Given the description of an element on the screen output the (x, y) to click on. 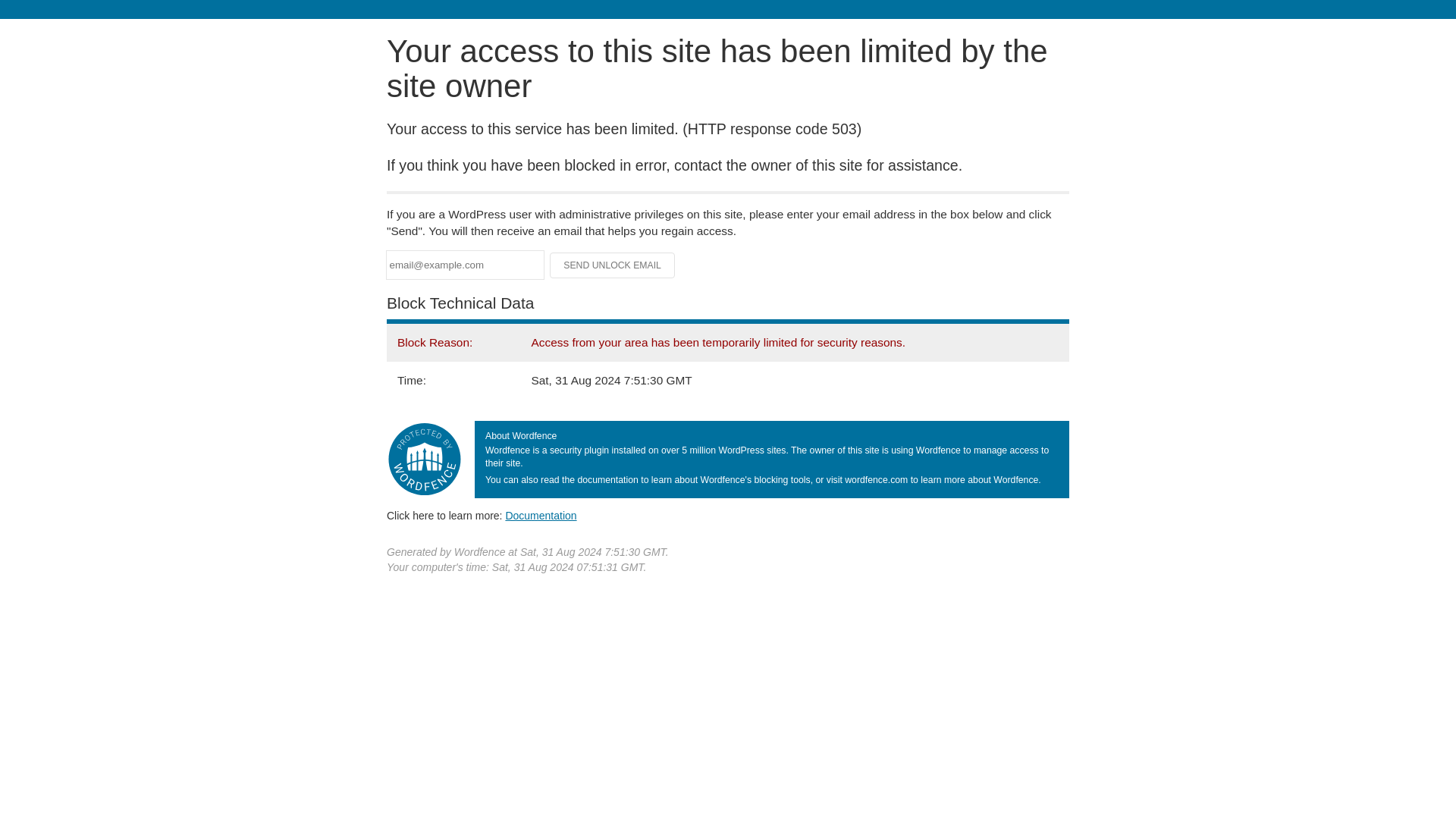
Documentation (540, 515)
Send Unlock Email (612, 265)
Send Unlock Email (612, 265)
